Given the description of an element on the screen output the (x, y) to click on. 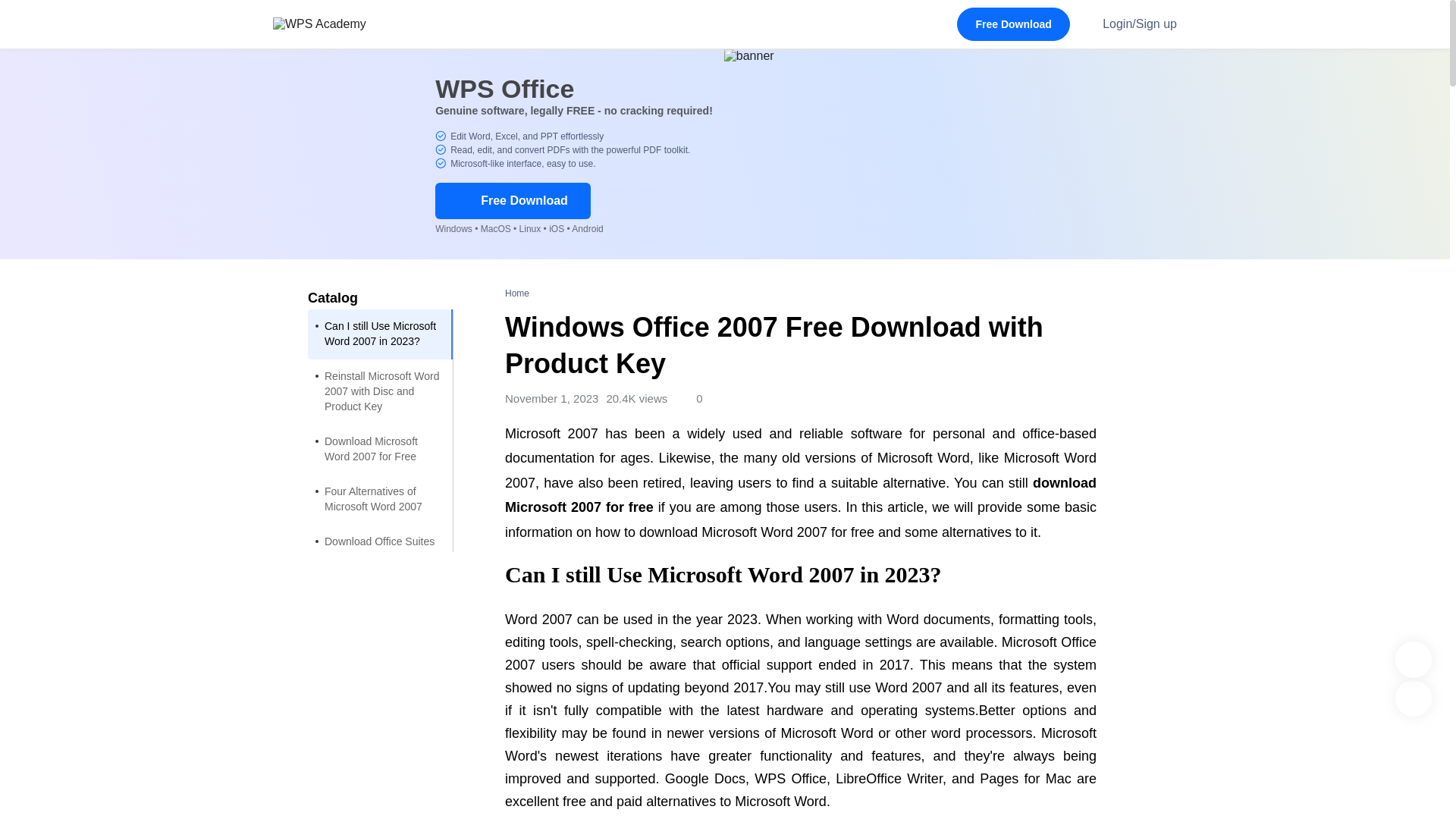
Conclusion (379, 626)
FAQs (379, 591)
Reinstall Microsoft Word 2007 with Disc and Product Key (379, 392)
Can I still Use Microsoft Word 2007 in 2023? (379, 334)
Download Microsoft Word 2007 for Free (379, 450)
Download Office Suites on Official Websites (379, 549)
Home (517, 293)
Four Alternatives of Microsoft Word 2007 (379, 499)
